Given the description of an element on the screen output the (x, y) to click on. 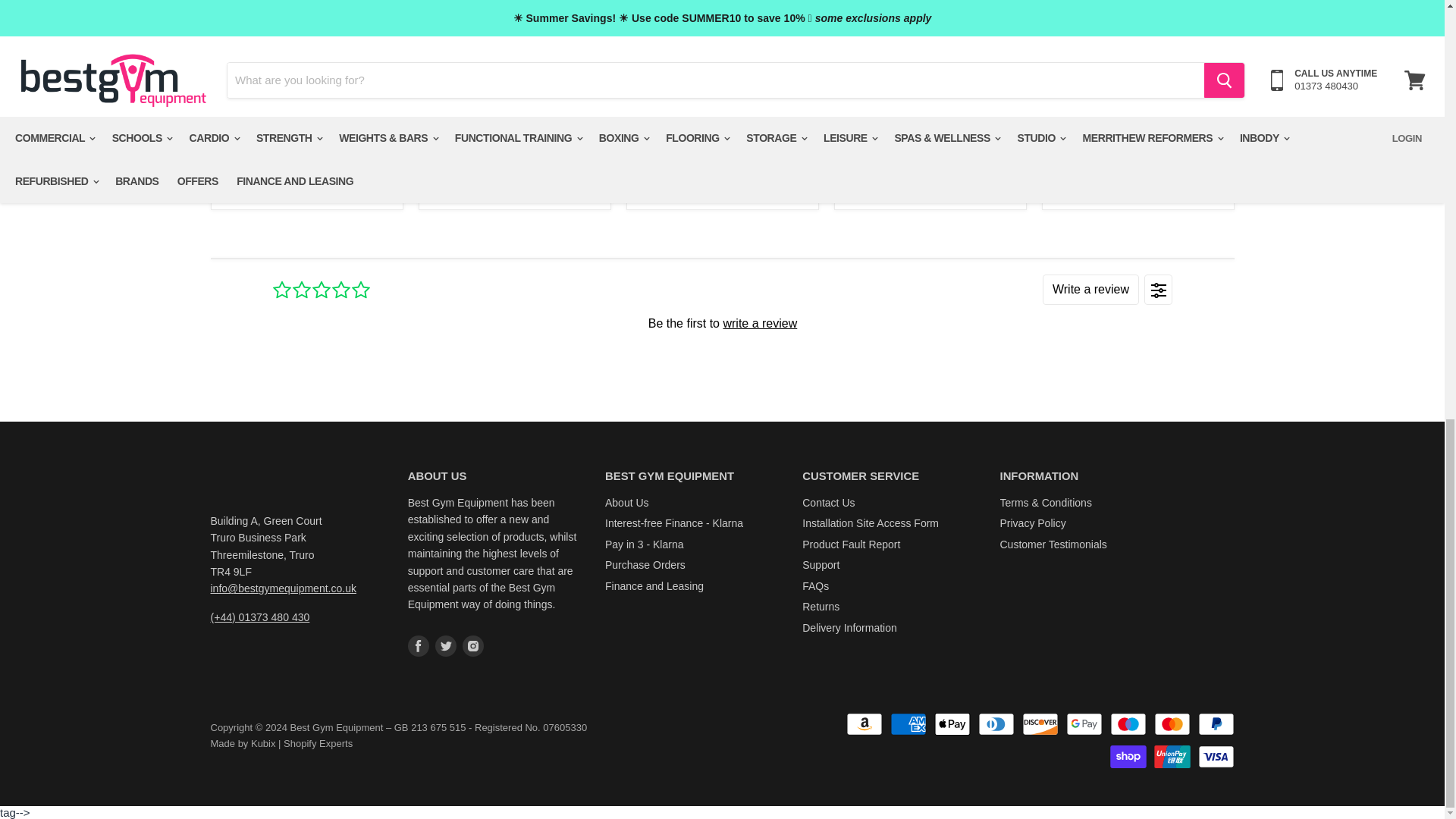
Product reviews widget (721, 322)
tel:01373480430 (260, 616)
Facebook (418, 646)
Instagram (473, 646)
Twitter (446, 646)
